Given the description of an element on the screen output the (x, y) to click on. 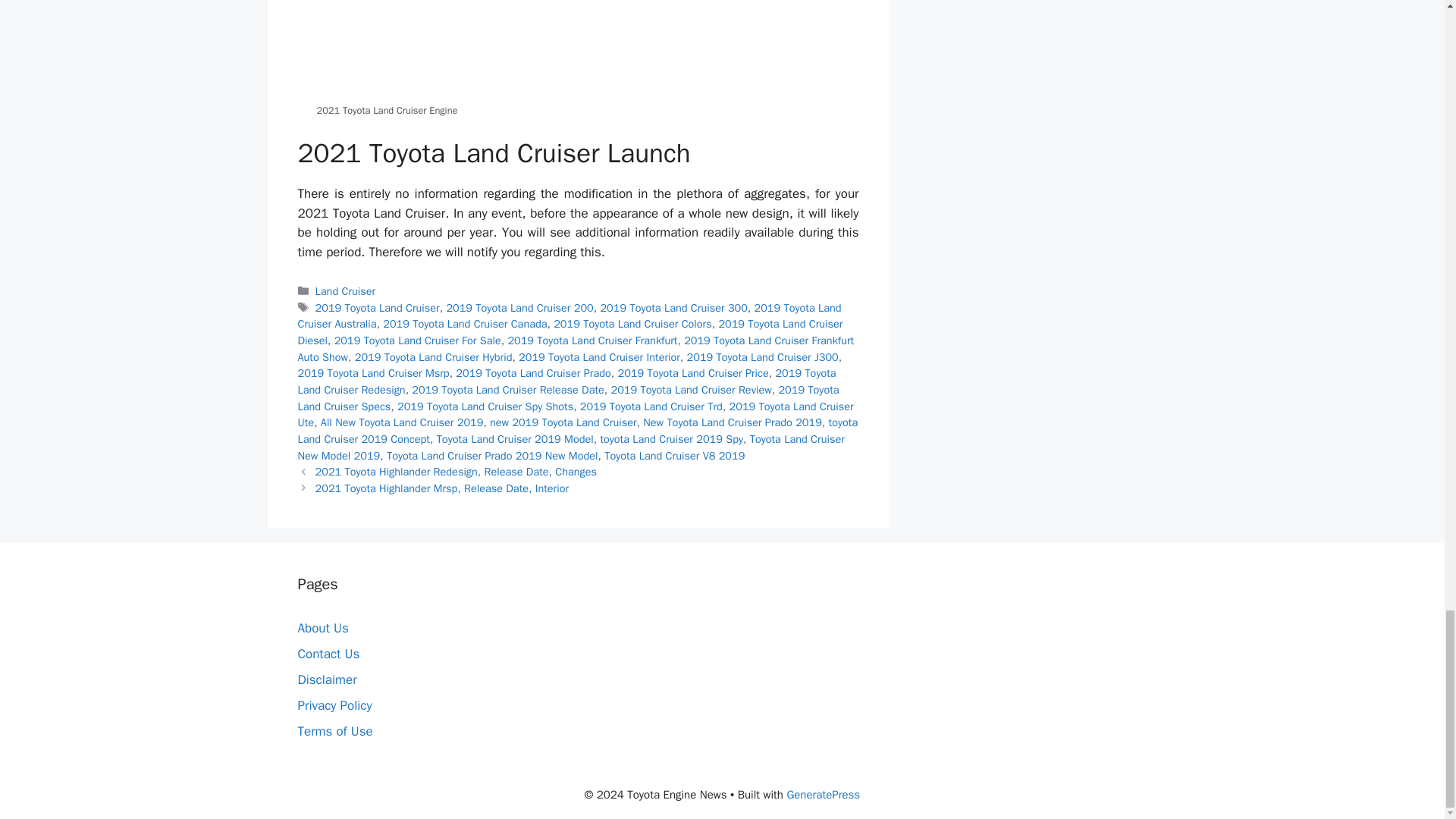
2019 Toyota Land Cruiser Spy Shots (485, 406)
2019 Toyota Land Cruiser Msrp (372, 373)
2019 Toyota Land Cruiser Frankfurt Auto Show (575, 348)
2019 Toyota Land Cruiser Redesign (566, 381)
2019 Toyota Land Cruiser Trd (650, 406)
2019 Toyota Land Cruiser Colors (632, 323)
2019 Toyota Land Cruiser (377, 307)
2019 Toyota Land Cruiser J300 (762, 356)
2019 Toyota Land Cruiser Hybrid (433, 356)
Land Cruiser (345, 291)
